Given the description of an element on the screen output the (x, y) to click on. 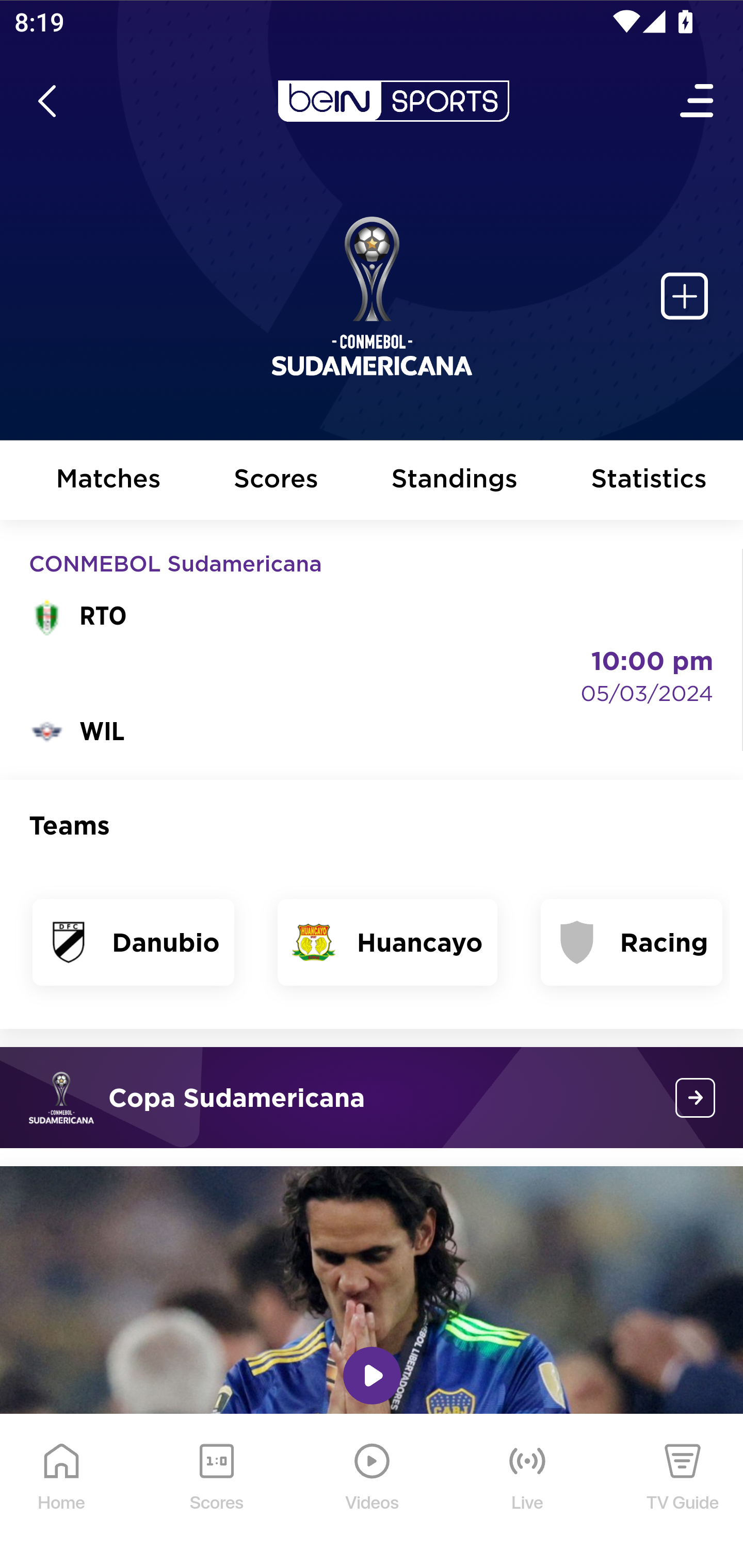
en-us?platform=mobile_android bein logo white (392, 101)
icon back (46, 101)
Open Menu Icon (697, 101)
Matches (107, 480)
Scores (275, 480)
Standings (454, 480)
Statistics (649, 480)
Danubio Danubio Danubio (133, 942)
Huancayo Huancayo Huancayo (387, 942)
Racing (631, 942)
conmebol-sudamericana?platform=mobile_android (695, 1097)
Home Home Icon Home (61, 1491)
Scores Scores Icon Scores (216, 1491)
Videos Videos Icon Videos (372, 1491)
TV Guide TV Guide Icon TV Guide (682, 1491)
